Given the description of an element on the screen output the (x, y) to click on. 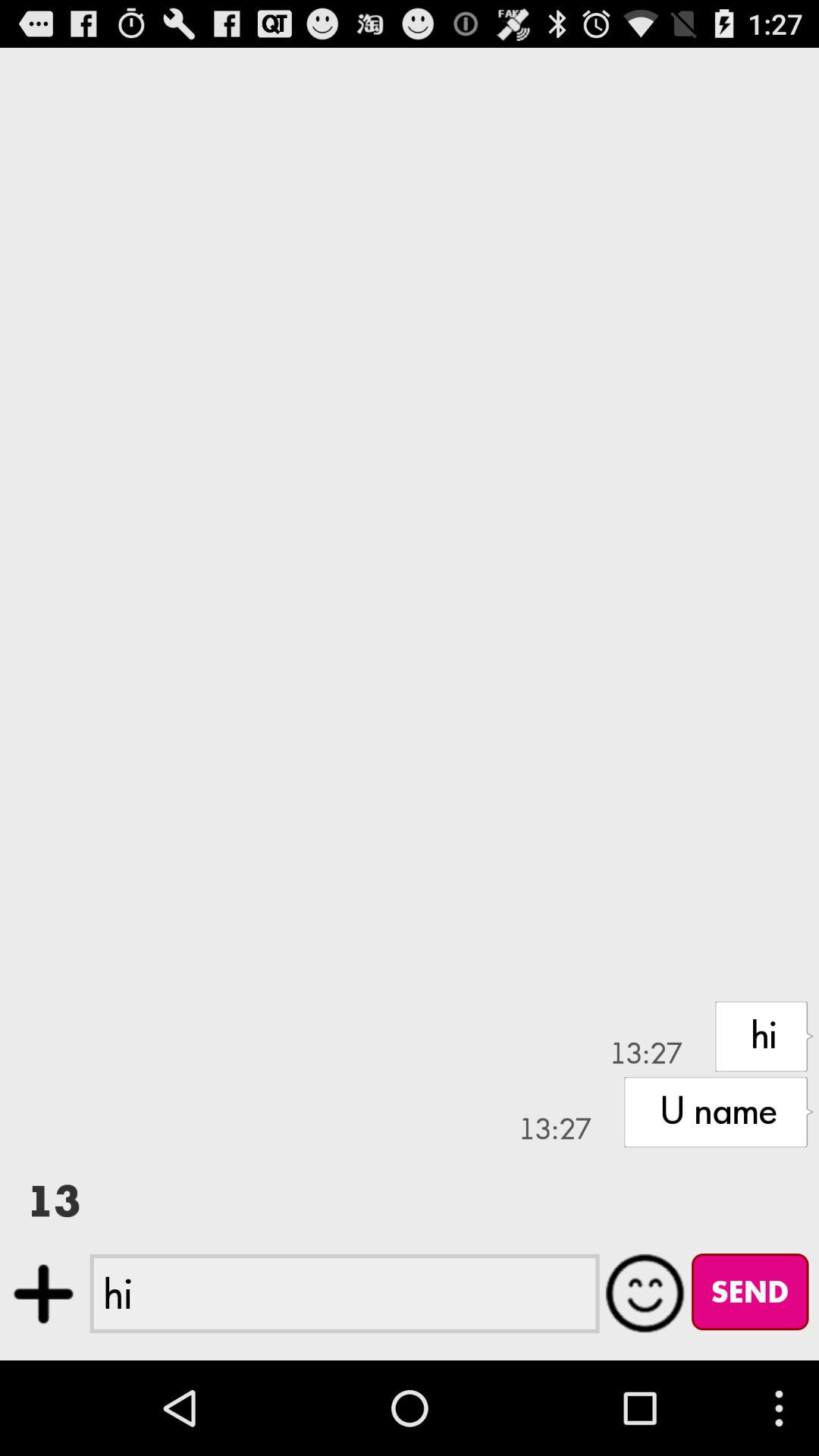
attach files (43, 1293)
